Given the description of an element on the screen output the (x, y) to click on. 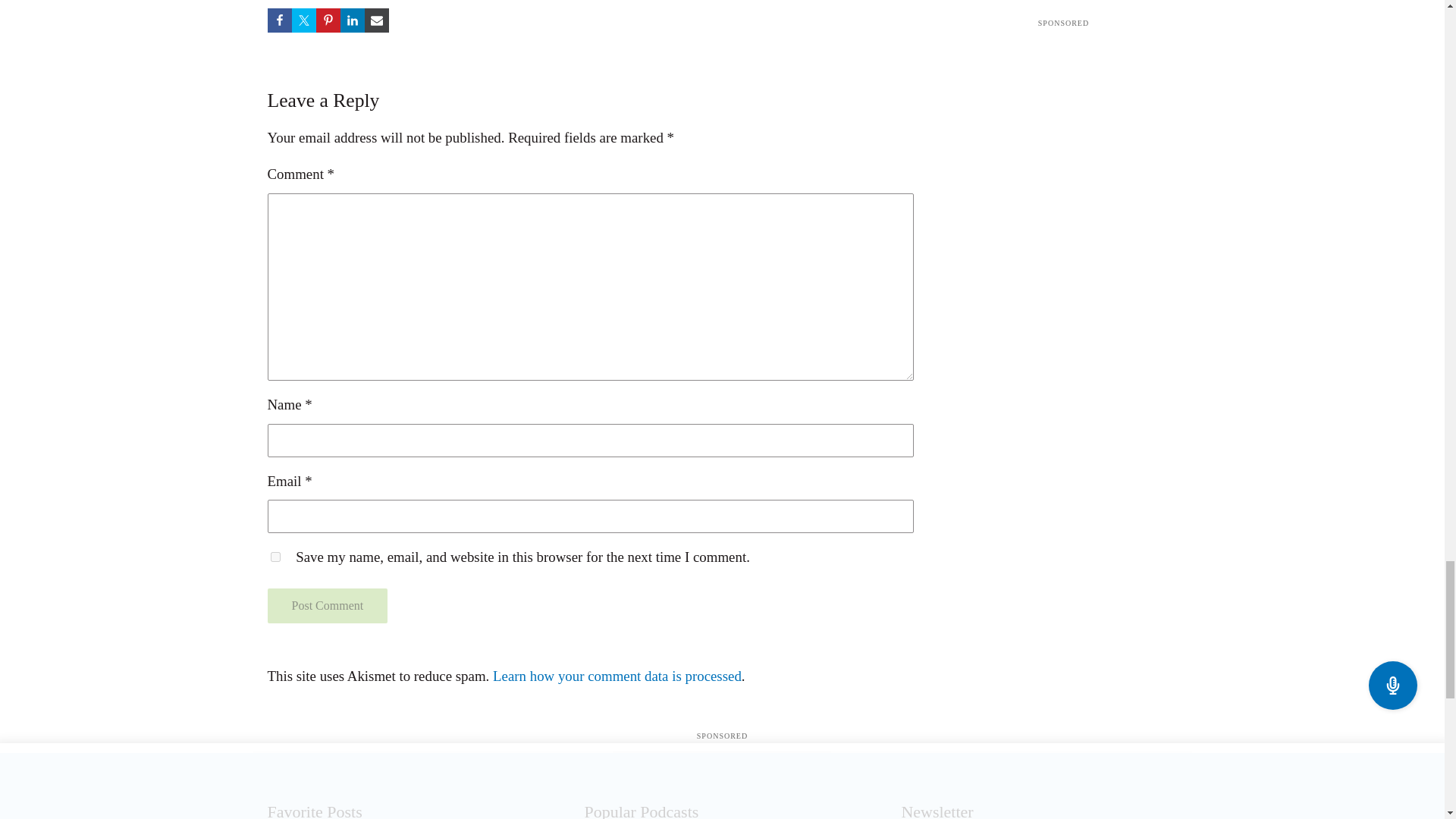
Post Comment (326, 605)
Share on Pinterest (327, 20)
Share on Facebook (278, 20)
yes (274, 556)
Share on Twitter (303, 20)
Share on LinkedIn (351, 20)
Share via Email (376, 20)
